Given the description of an element on the screen output the (x, y) to click on. 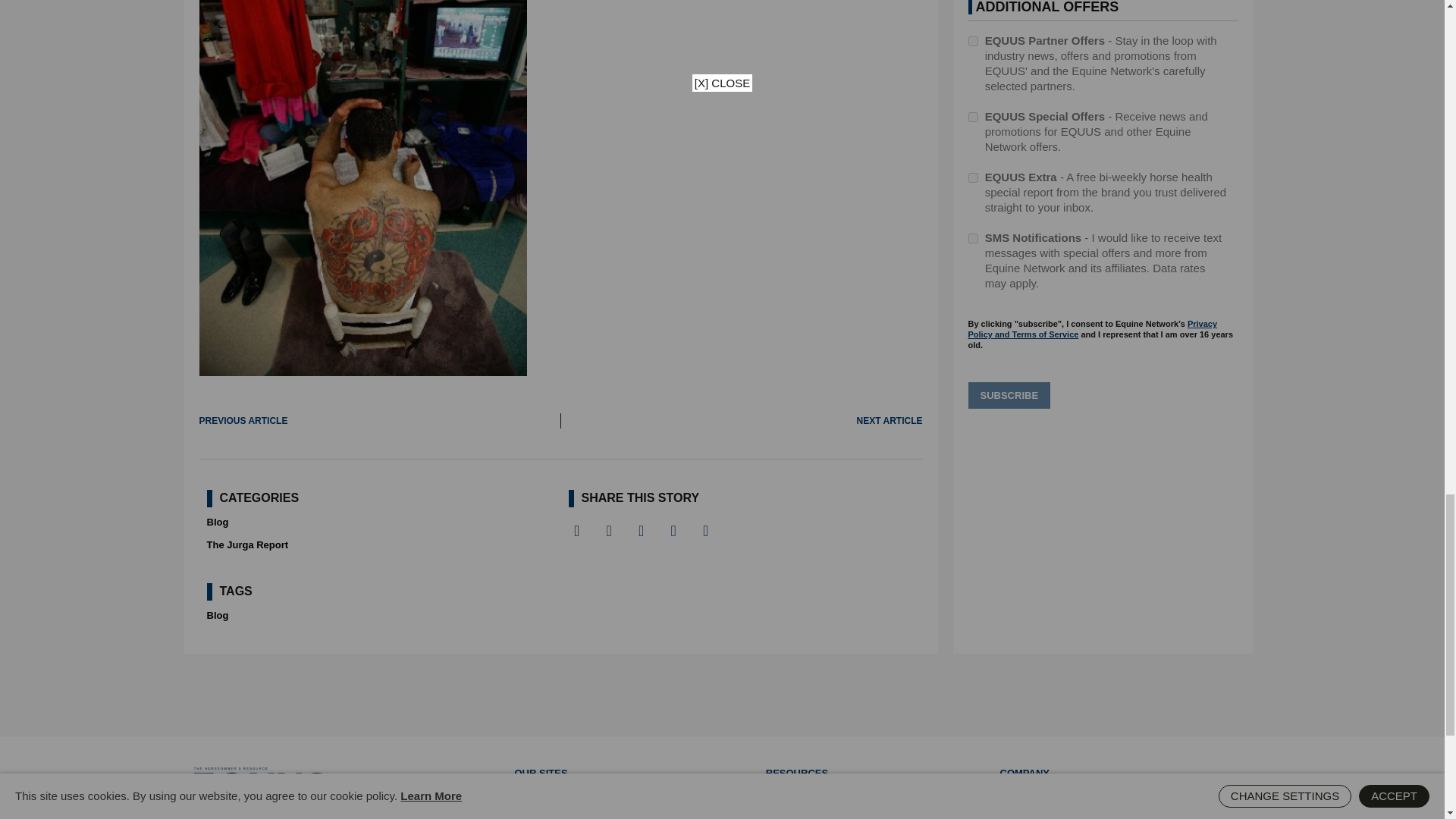
Subscribe (1008, 395)
0cd2e389-c43e-4146-b3bb-59ab437fd8f4 (972, 177)
3rd party ad content (721, 694)
52f26a8f-e5be-4237-a9cb-227d8912a511 (972, 40)
SMS Notifications (972, 238)
591f5baa-e9c3-40bf-bf02-f5923680caa3 (972, 117)
